Given the description of an element on the screen output the (x, y) to click on. 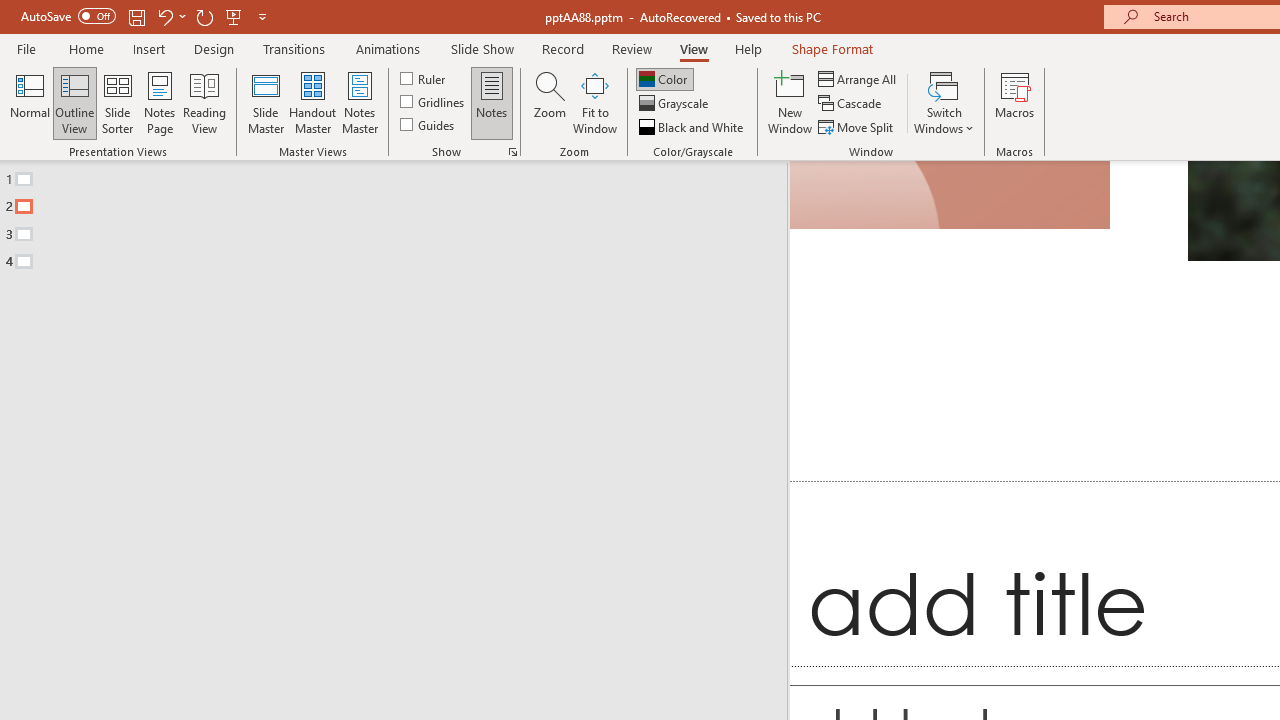
Notes (492, 102)
Fit to Window (594, 102)
Switch Windows (943, 102)
Handout Master (312, 102)
